Given the description of an element on the screen output the (x, y) to click on. 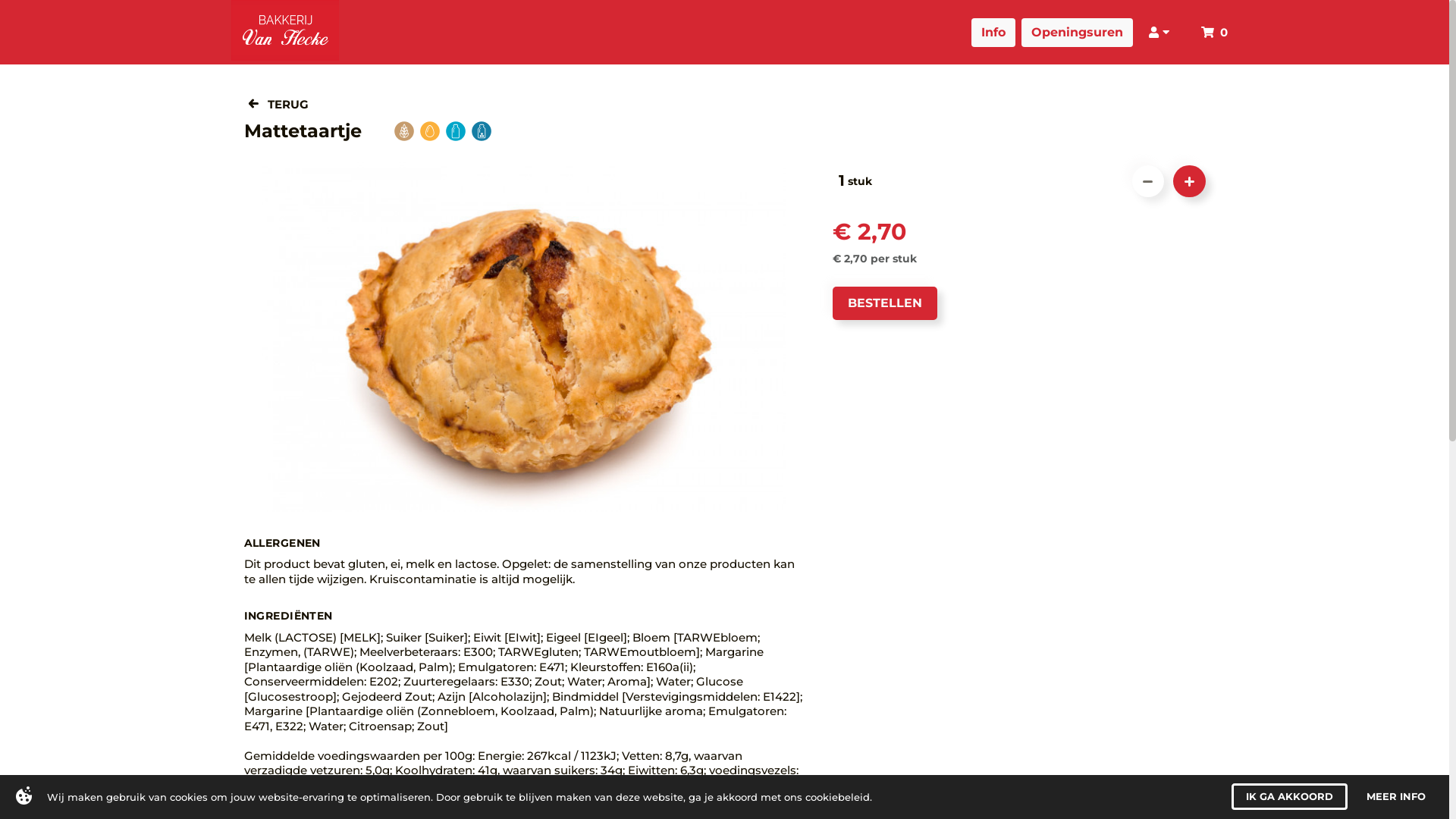
Openingsuren Element type: text (1076, 32)
Info Element type: text (993, 32)
MEER INFO Element type: text (1395, 796)
IK GA AKKOORD Element type: text (1289, 796)
0 Element type: text (1214, 32)
BESTELLEN Element type: text (884, 302)
TERUG Element type: text (278, 103)
